Given the description of an element on the screen output the (x, y) to click on. 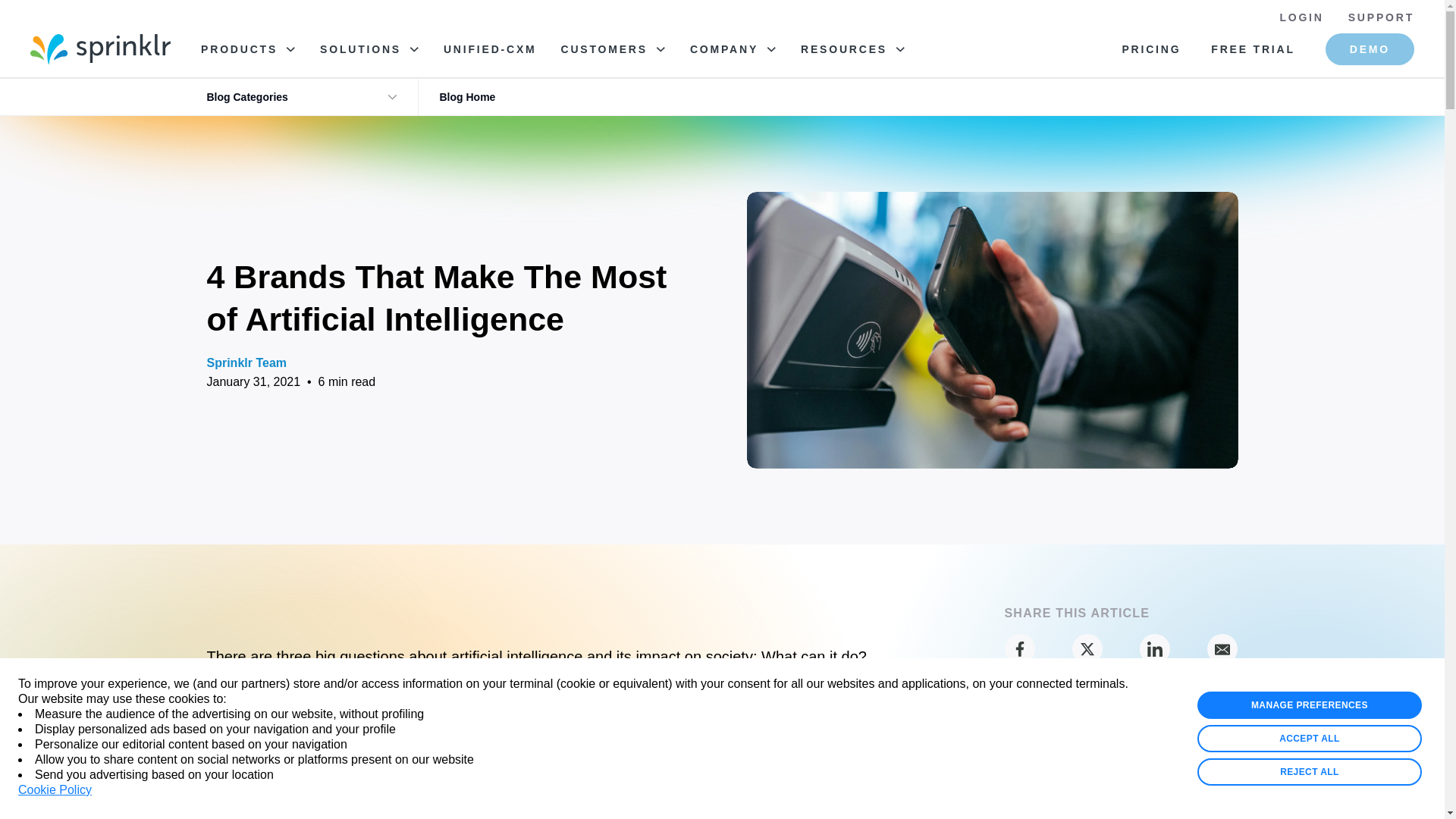
LOGIN (1301, 17)
MANAGE PREFERENCES (1309, 705)
PRODUCTS (247, 49)
ACCEPT ALL (1309, 738)
REJECT ALL (1309, 771)
Sprinklr (100, 49)
Cookie Policy (54, 789)
SUPPORT (1380, 17)
